Given the description of an element on the screen output the (x, y) to click on. 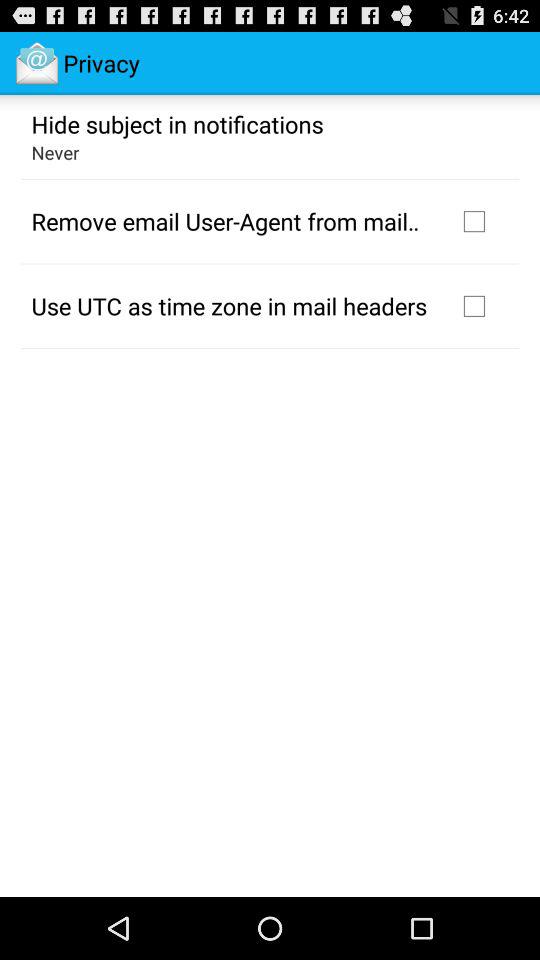
scroll until the use utc as item (229, 305)
